Given the description of an element on the screen output the (x, y) to click on. 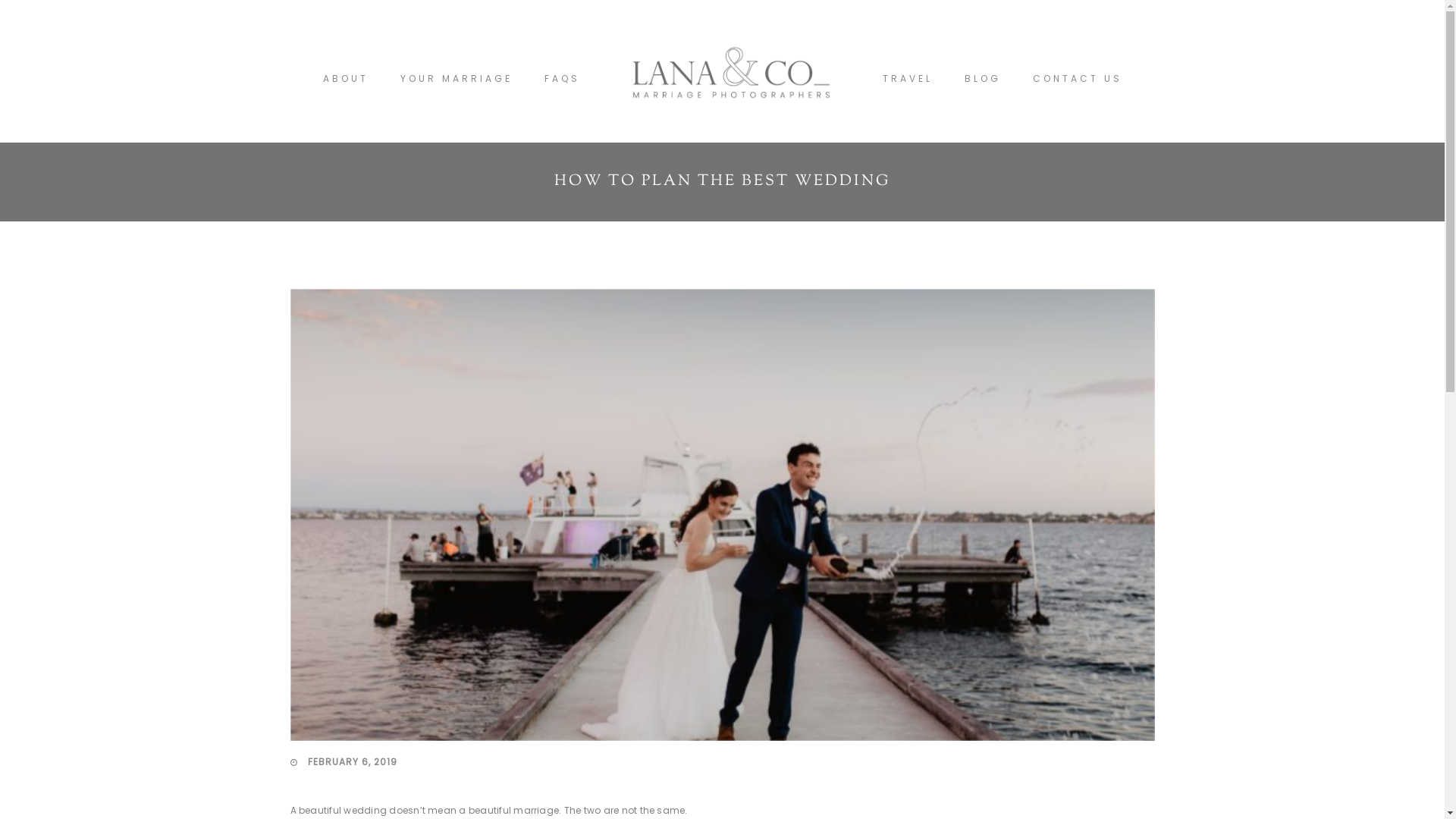
ABOUT Element type: text (345, 78)
CONTACT US Element type: text (1077, 78)
BLOG Element type: text (982, 78)
FEBRUARY 6, 2019 Element type: text (342, 762)
TRAVEL Element type: text (907, 78)
YOUR MARRIAGE Element type: text (456, 78)
FAQS Element type: text (562, 78)
